Given the description of an element on the screen output the (x, y) to click on. 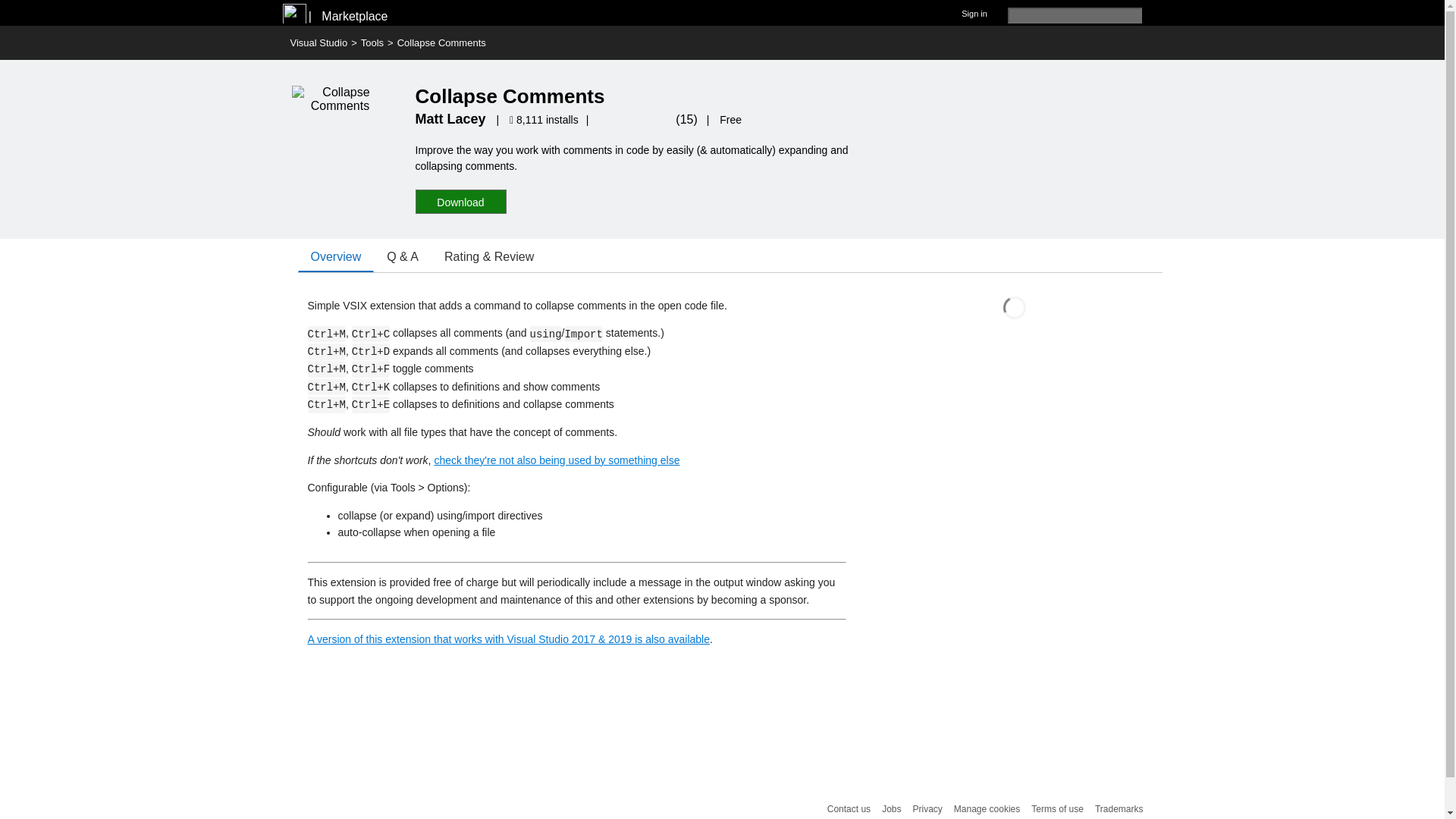
Trademarks (1118, 808)
Jobs (891, 808)
The number of unique installations, not including updates. (545, 119)
Download (460, 201)
Sign in (973, 13)
Overview (335, 256)
Matt Lacey (450, 118)
check they're not also being used by something else (556, 460)
Visual Studio (318, 42)
Terms of use (1056, 808)
